Given the description of an element on the screen output the (x, y) to click on. 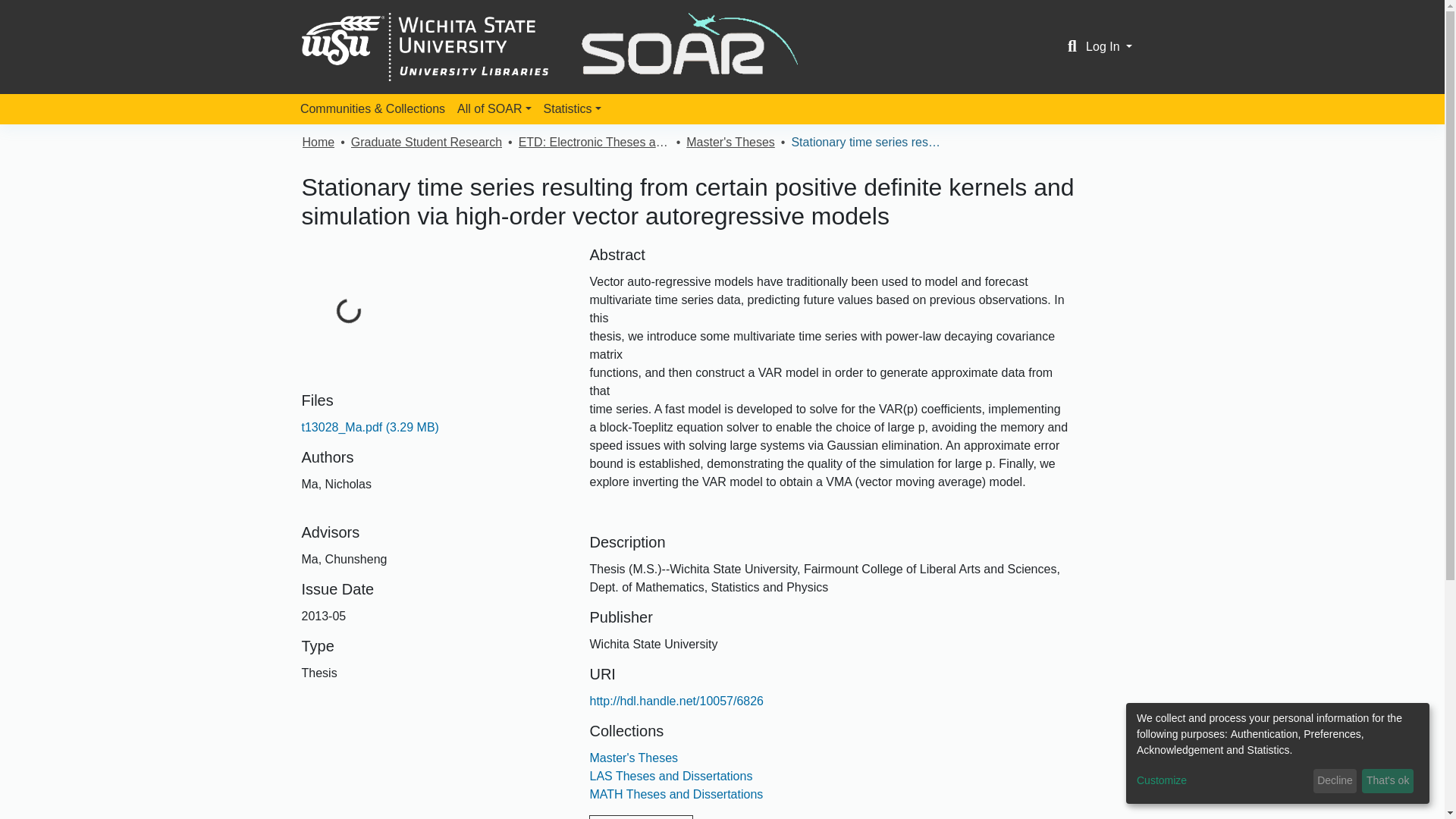
LAS Theses and Dissertations (670, 775)
Log In (1108, 46)
MATH Theses and Dissertations (675, 793)
Home (317, 142)
All of SOAR (494, 109)
Master's Theses (633, 757)
Master's Theses (729, 142)
ETD: Electronic Theses and Dissertations (593, 142)
Graduate Student Research (426, 142)
Statistics (572, 109)
